Given the description of an element on the screen output the (x, y) to click on. 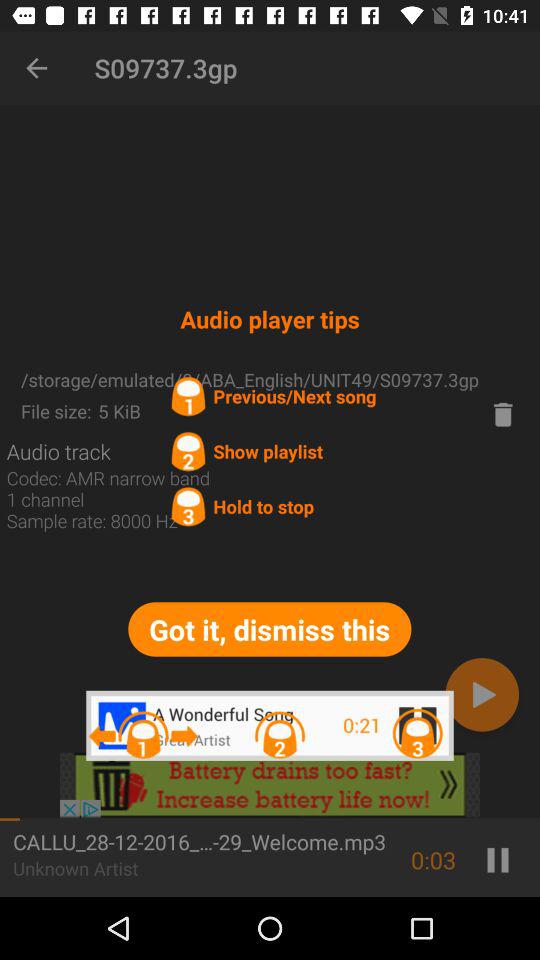
advertisement (270, 785)
